Given the description of an element on the screen output the (x, y) to click on. 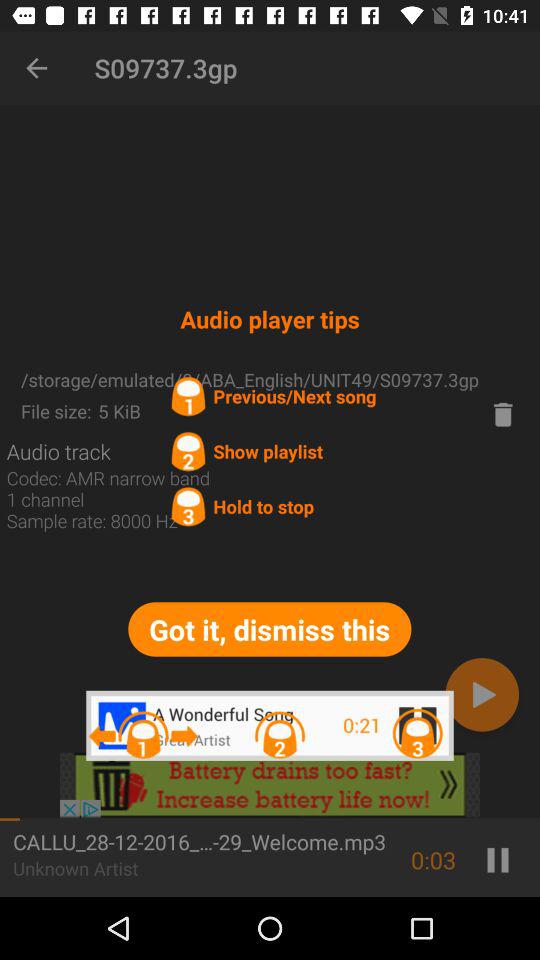
advertisement (270, 785)
